Given the description of an element on the screen output the (x, y) to click on. 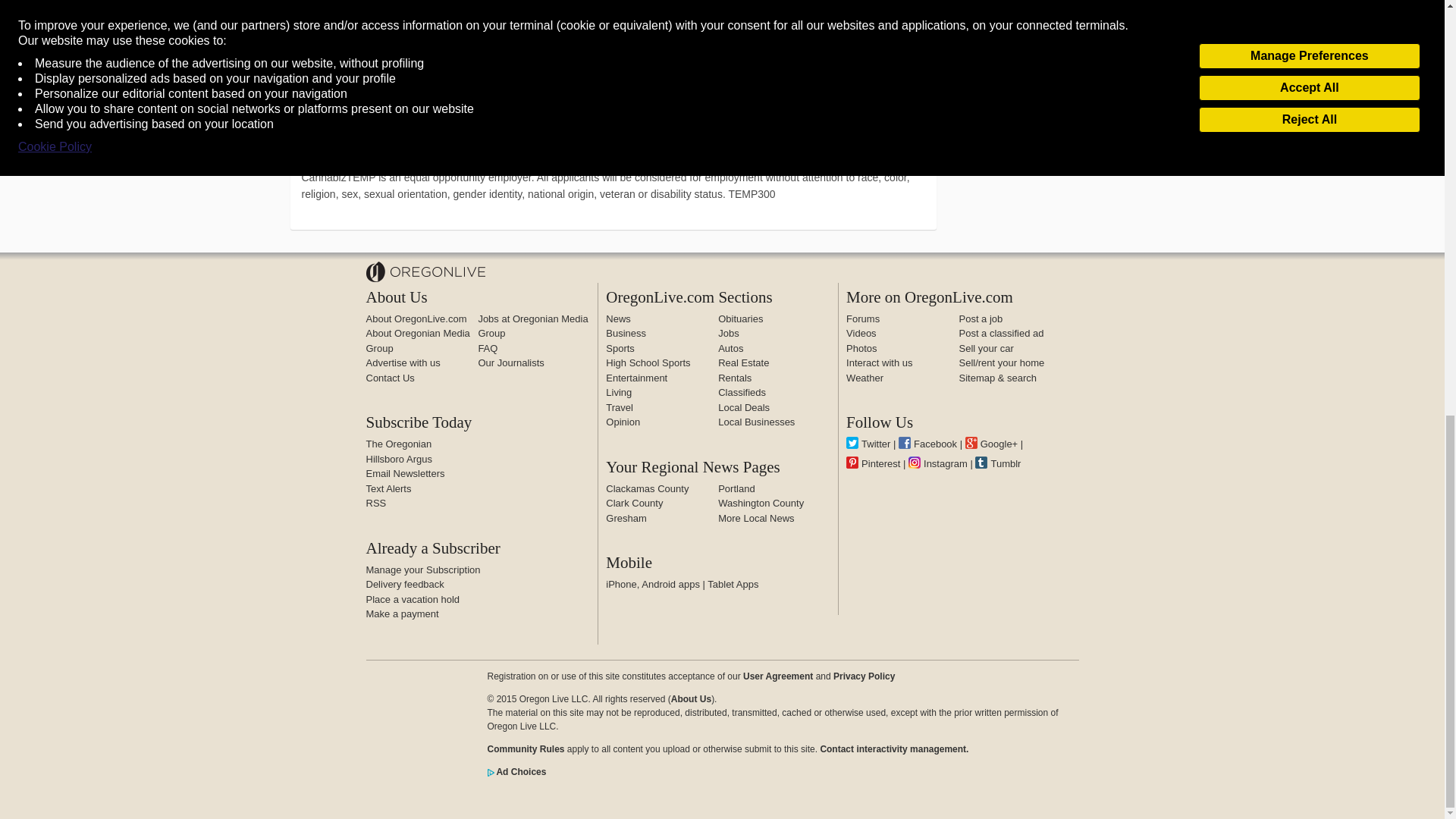
Contact Us (389, 378)
Privacy Policy (863, 675)
User Agreement (777, 675)
Community Rules (893, 748)
Community Rules (525, 748)
